Given the description of an element on the screen output the (x, y) to click on. 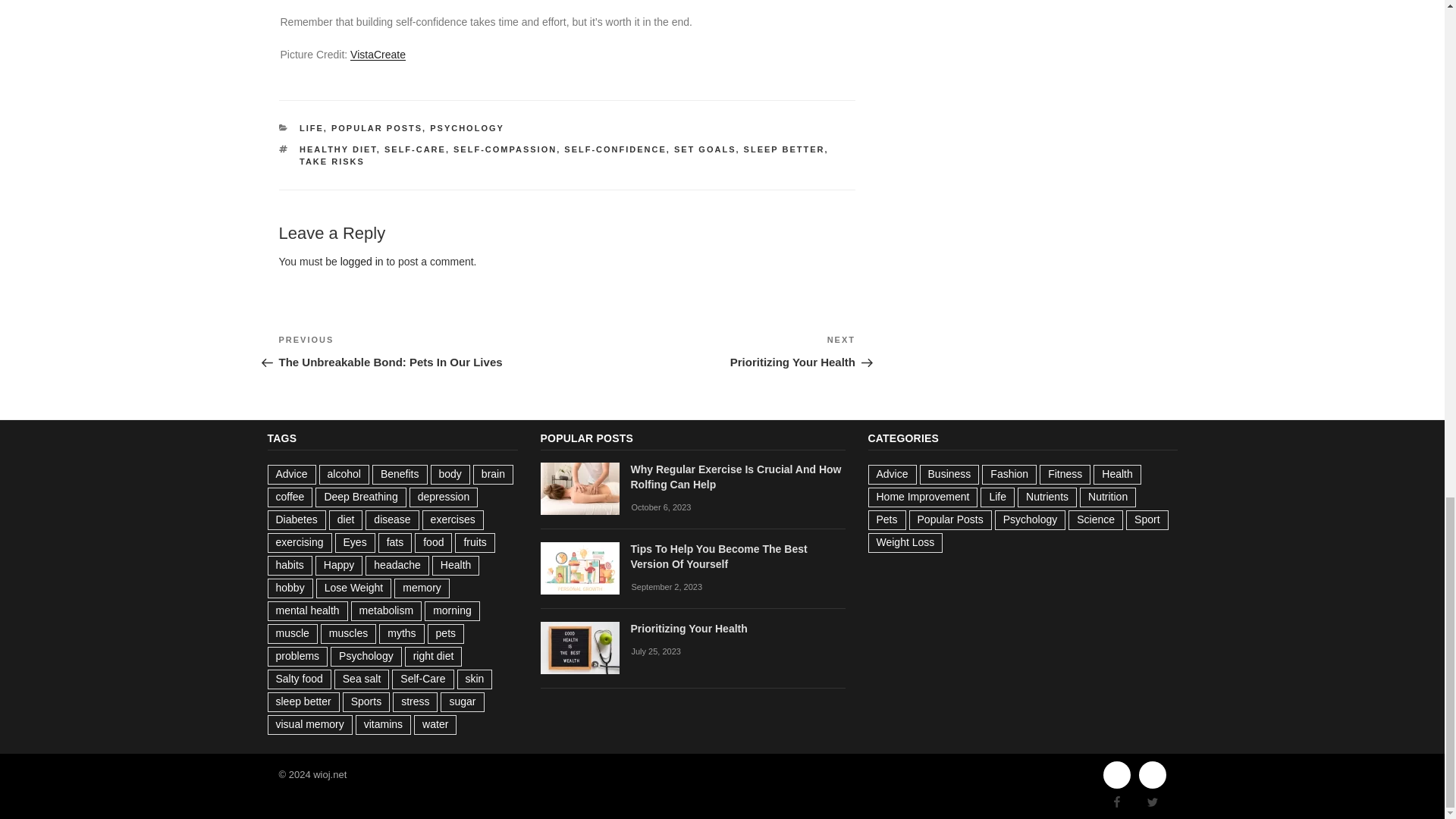
SET GOALS (705, 148)
PSYCHOLOGY (466, 127)
SELF-COMPASSION (504, 148)
TAKE RISKS (332, 161)
SELF-CARE (414, 148)
SELF-CONFIDENCE (615, 148)
POPULAR POSTS (376, 127)
HEALTHY DIET (711, 351)
logged in (338, 148)
LIFE (362, 261)
SLEEP BETTER (311, 127)
VistaCreate (784, 148)
